Given the description of an element on the screen output the (x, y) to click on. 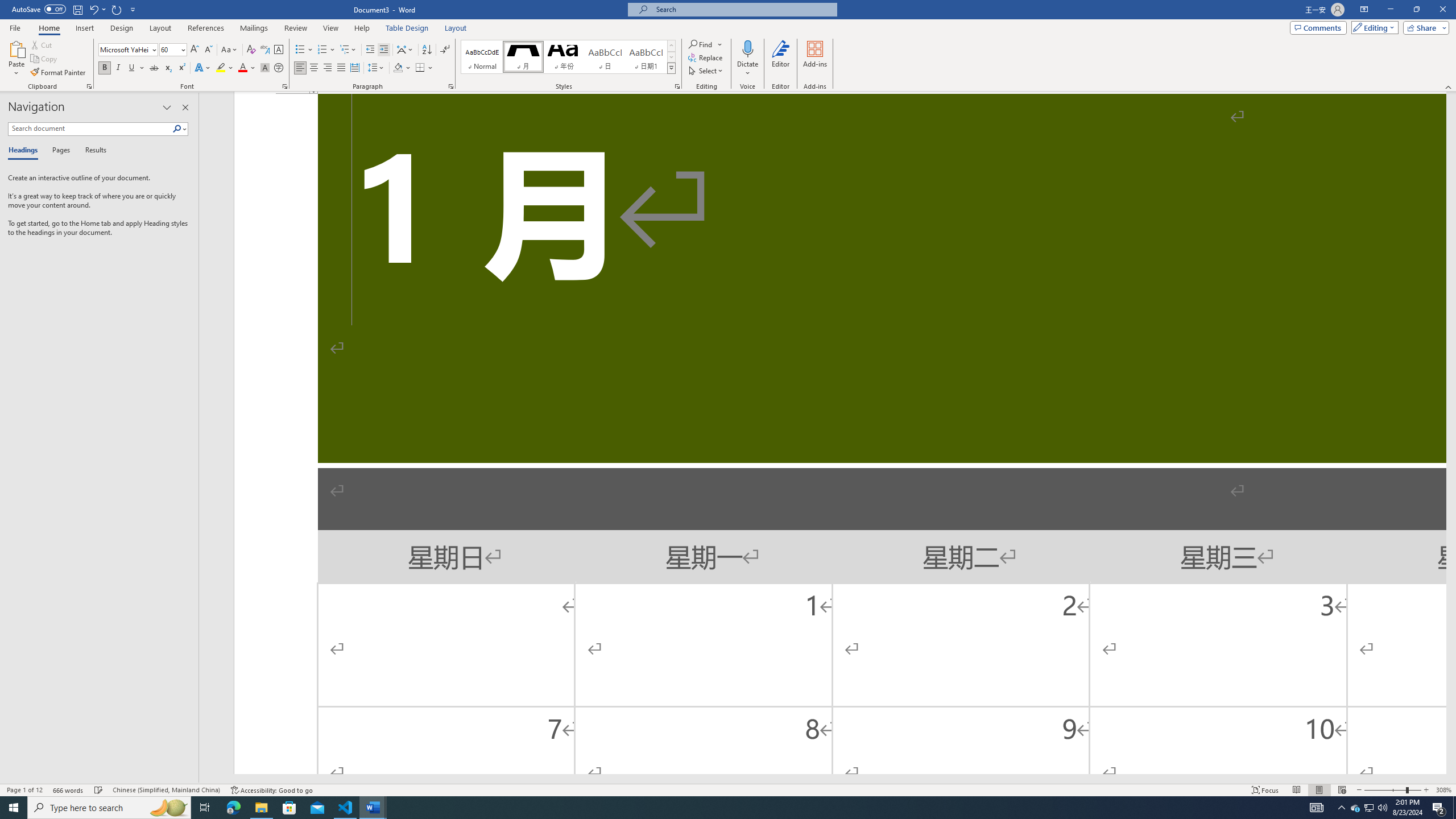
Page 1 content (839, 433)
Page Number Page 1 of 12 (24, 790)
